Given the description of an element on the screen output the (x, y) to click on. 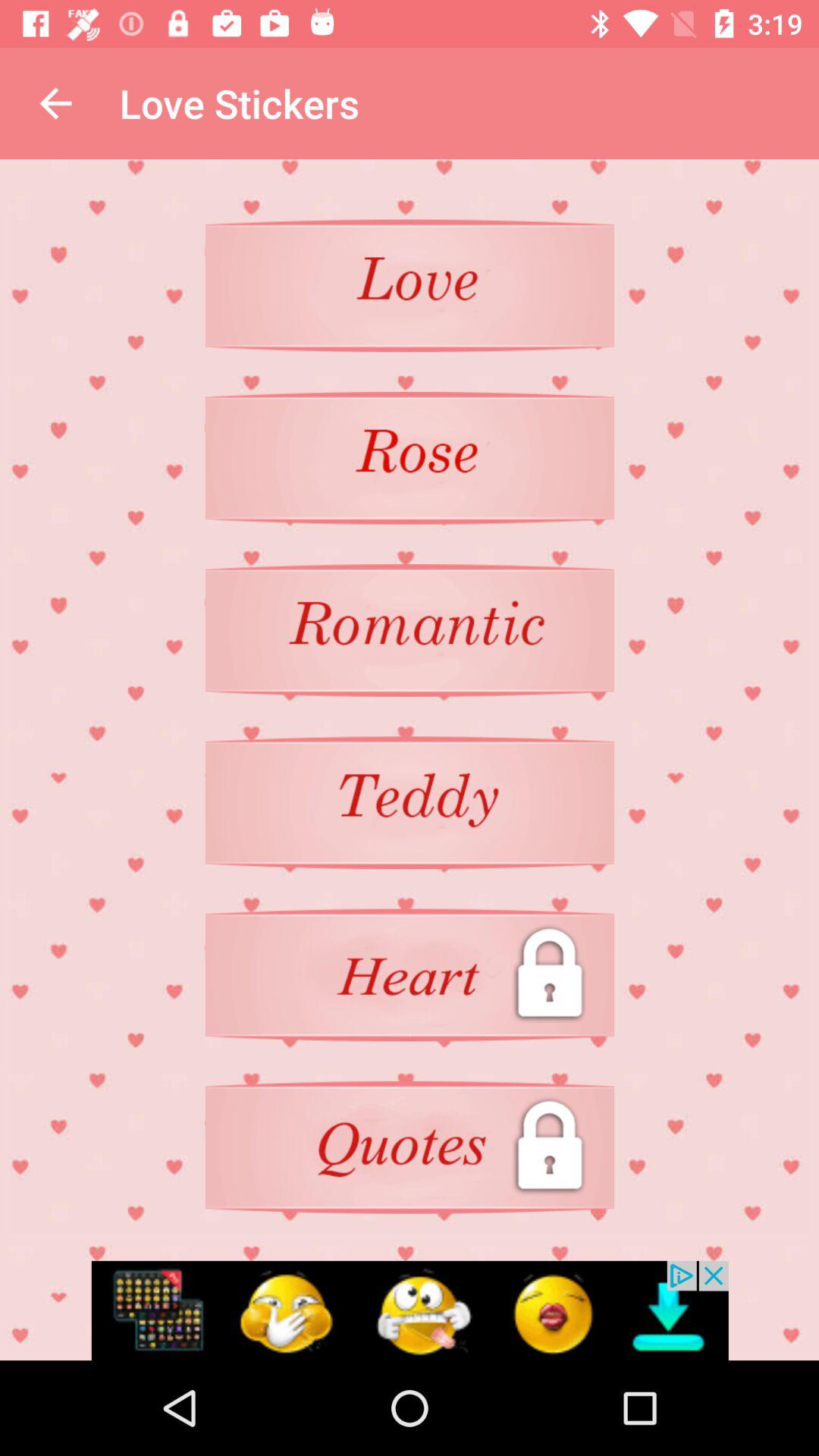
view the teddy sticker (409, 802)
